Given the description of an element on the screen output the (x, y) to click on. 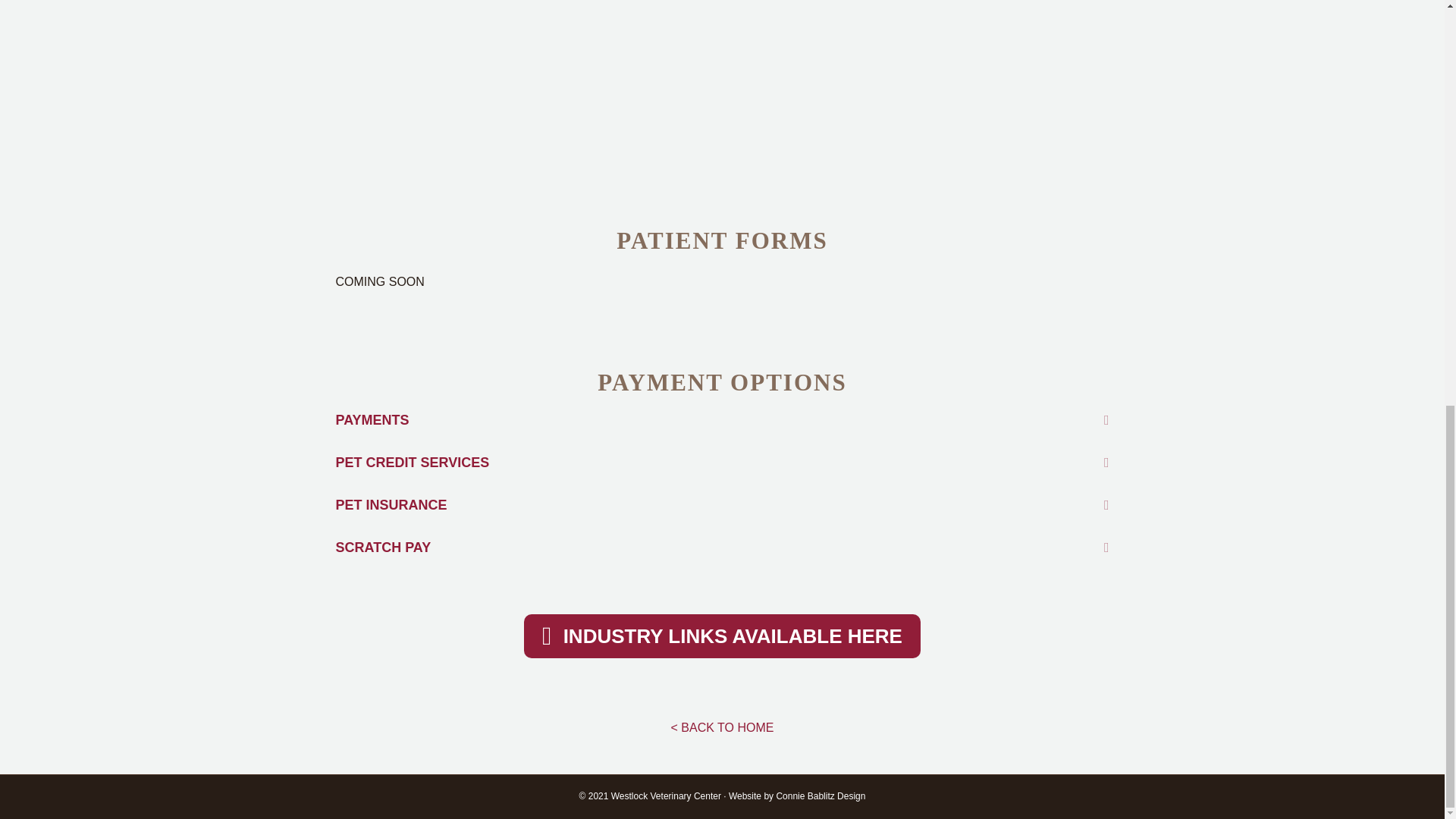
Westlock Vet Center - Leaving Your Pet for Surgery (524, 79)
